Given the description of an element on the screen output the (x, y) to click on. 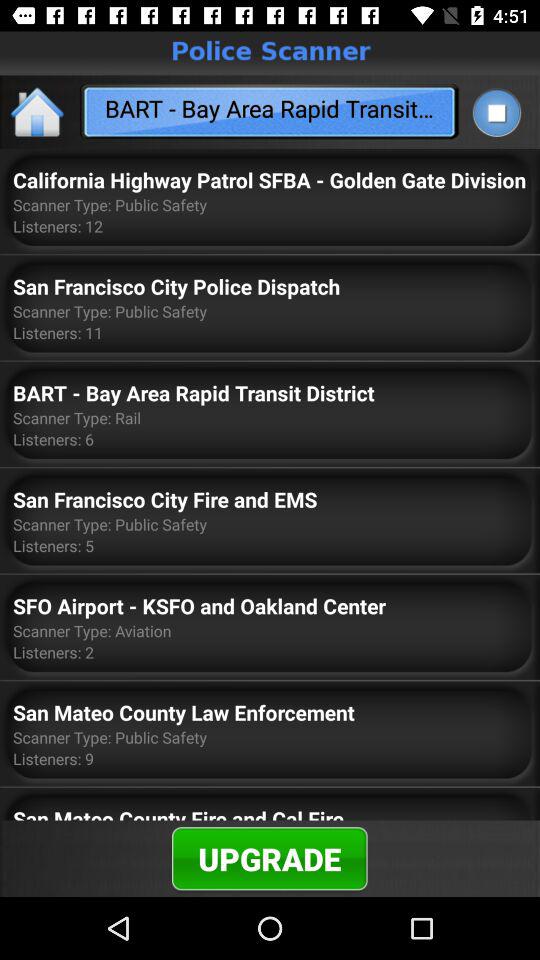
tap app above california highway patrol app (38, 111)
